Given the description of an element on the screen output the (x, y) to click on. 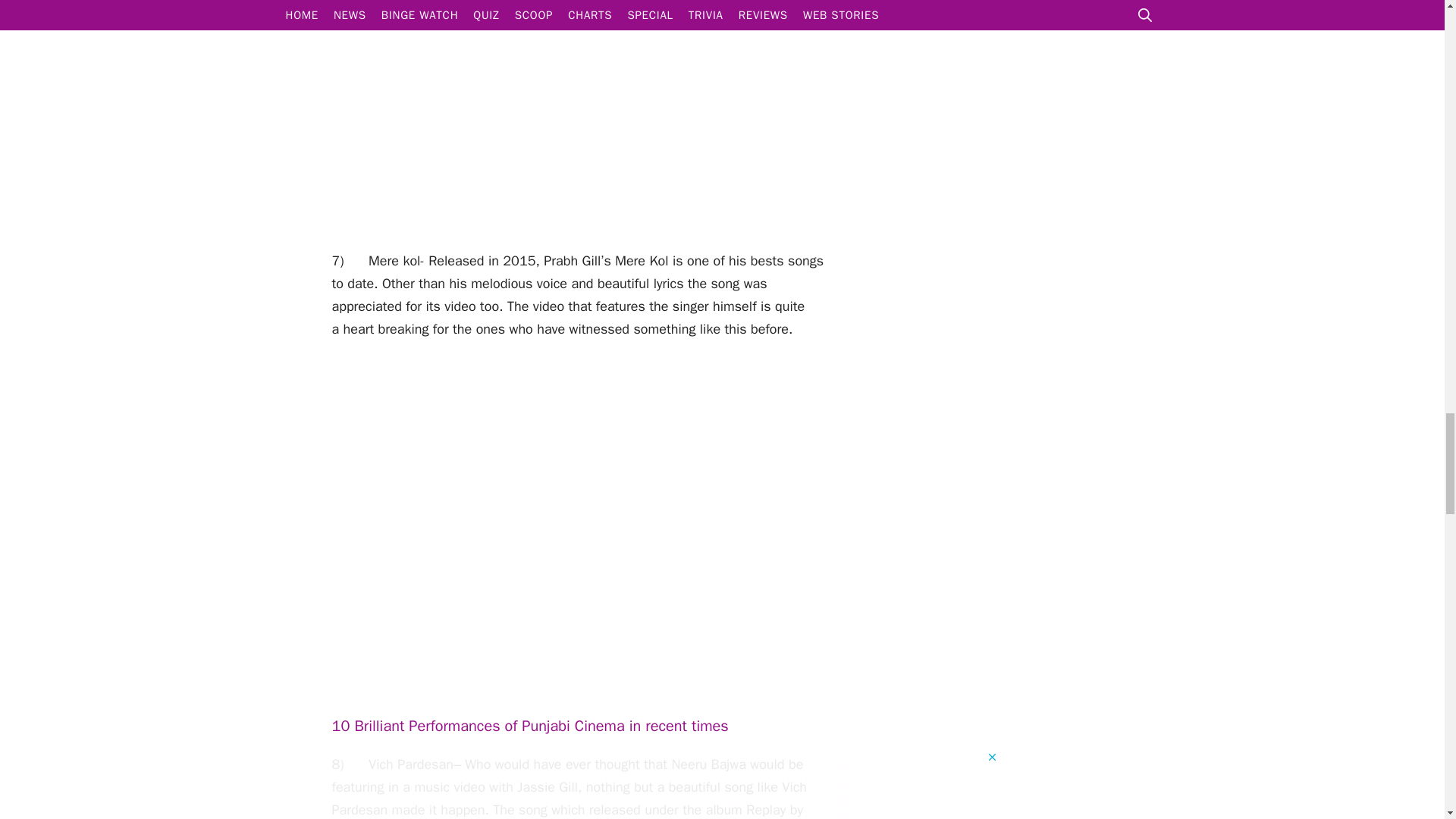
10 Brilliant Performances of Punjabi Cinema in recent times (530, 725)
